Given the description of an element on the screen output the (x, y) to click on. 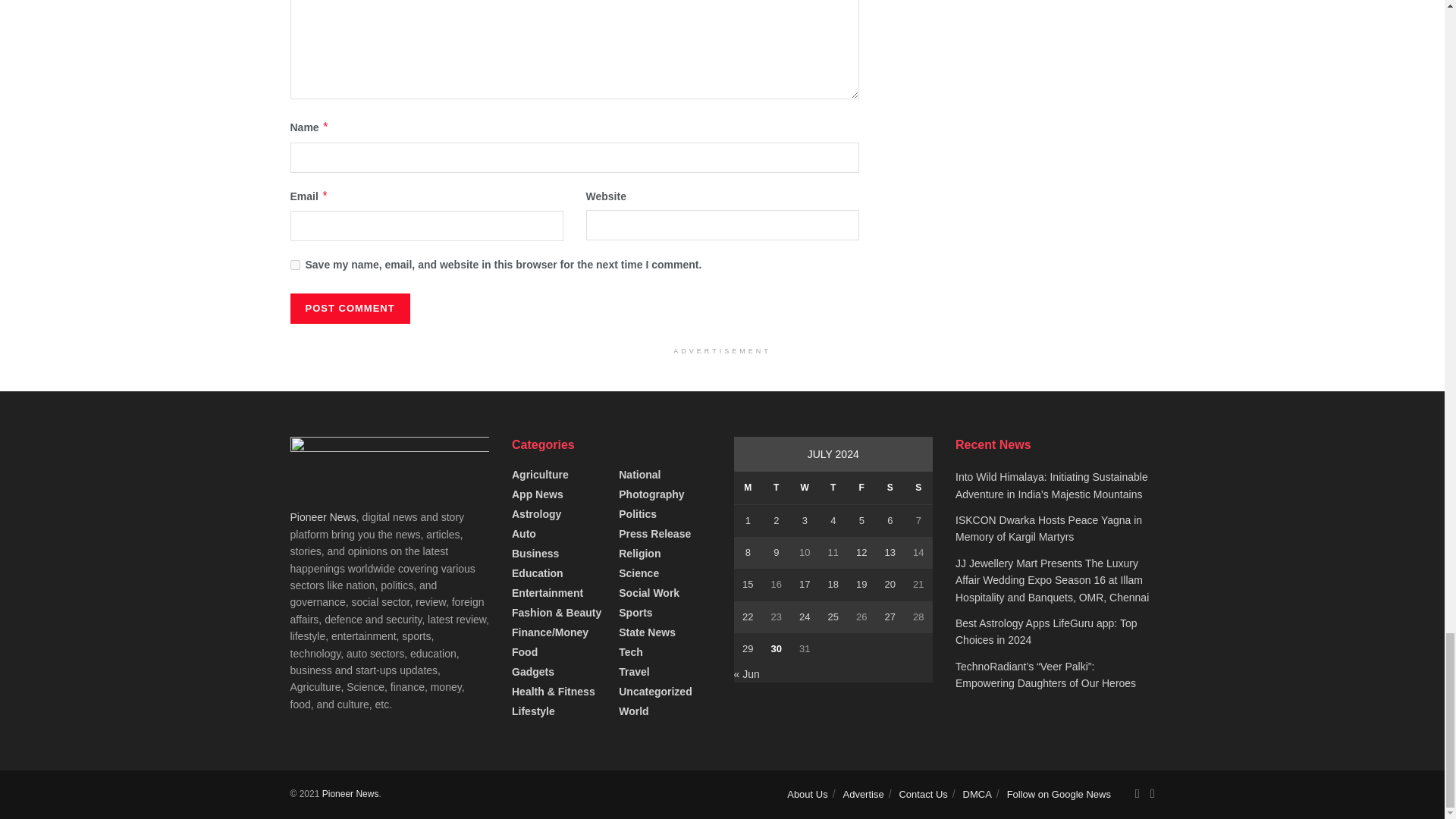
Post Comment (349, 308)
Pioneer News (349, 793)
yes (294, 265)
